Given the description of an element on the screen output the (x, y) to click on. 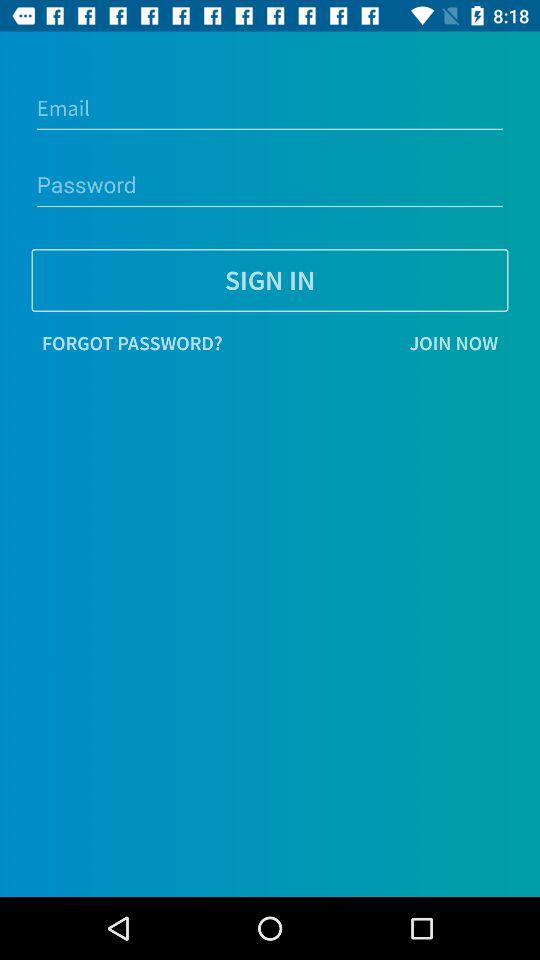
choose icon above the forgot password? item (269, 280)
